Given the description of an element on the screen output the (x, y) to click on. 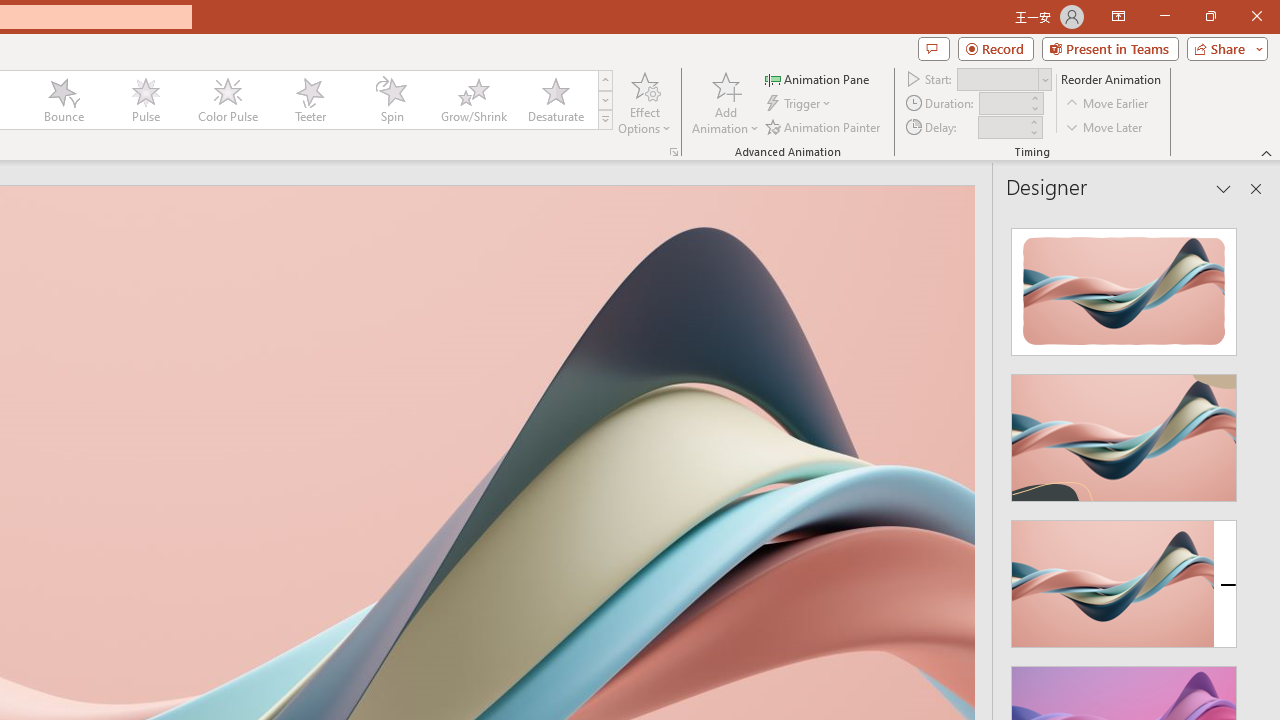
Color Pulse (227, 100)
Teeter (309, 100)
Design Idea (1124, 577)
Add Animation (725, 102)
